Given the description of an element on the screen output the (x, y) to click on. 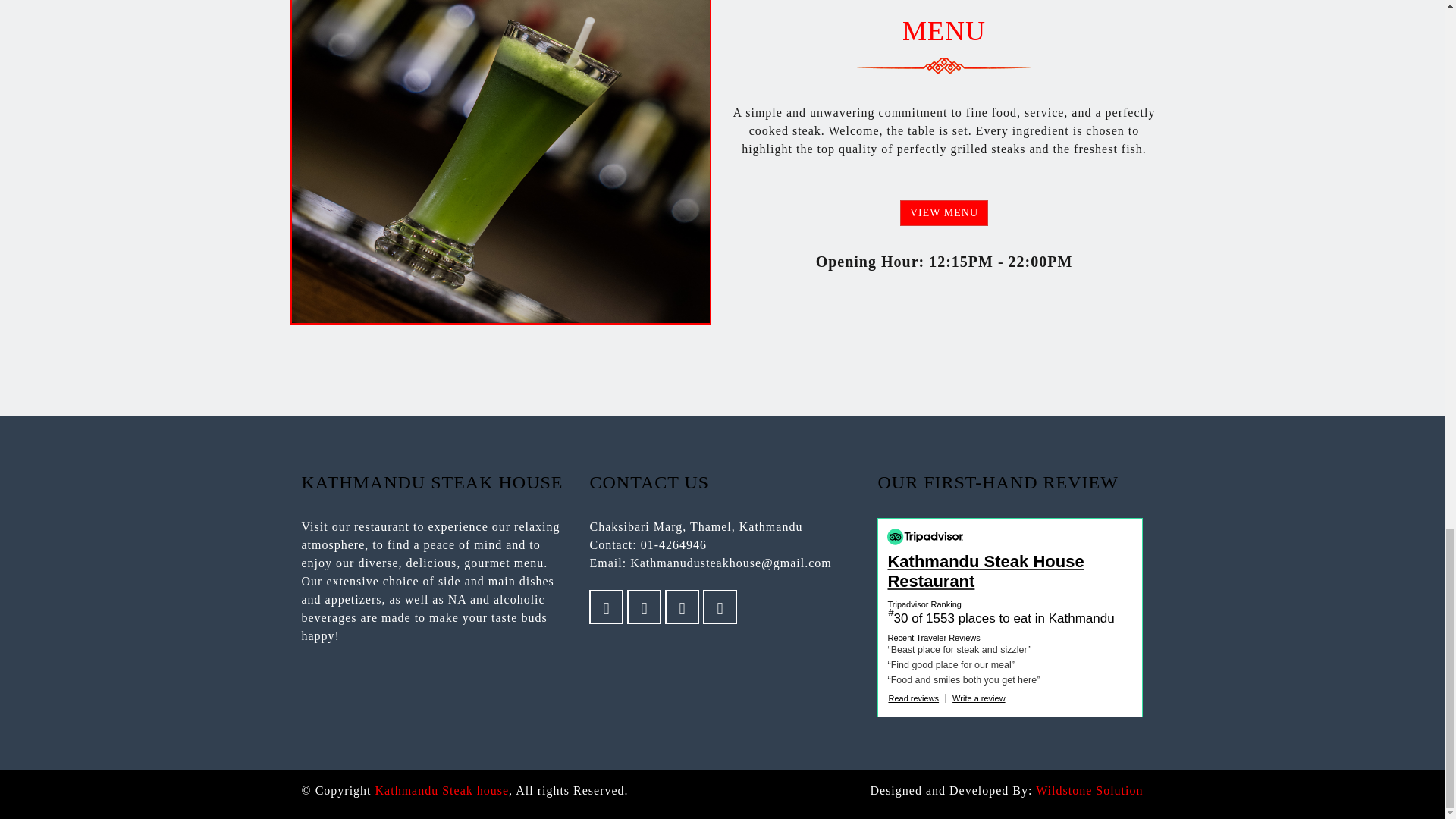
Write a review (978, 697)
VIEW MENU (943, 212)
Read reviews (913, 697)
Kathmandu Steak House Restaurant (1009, 571)
Kathmandu Steak house (442, 789)
Wildstone Solution (1088, 789)
